Given the description of an element on the screen output the (x, y) to click on. 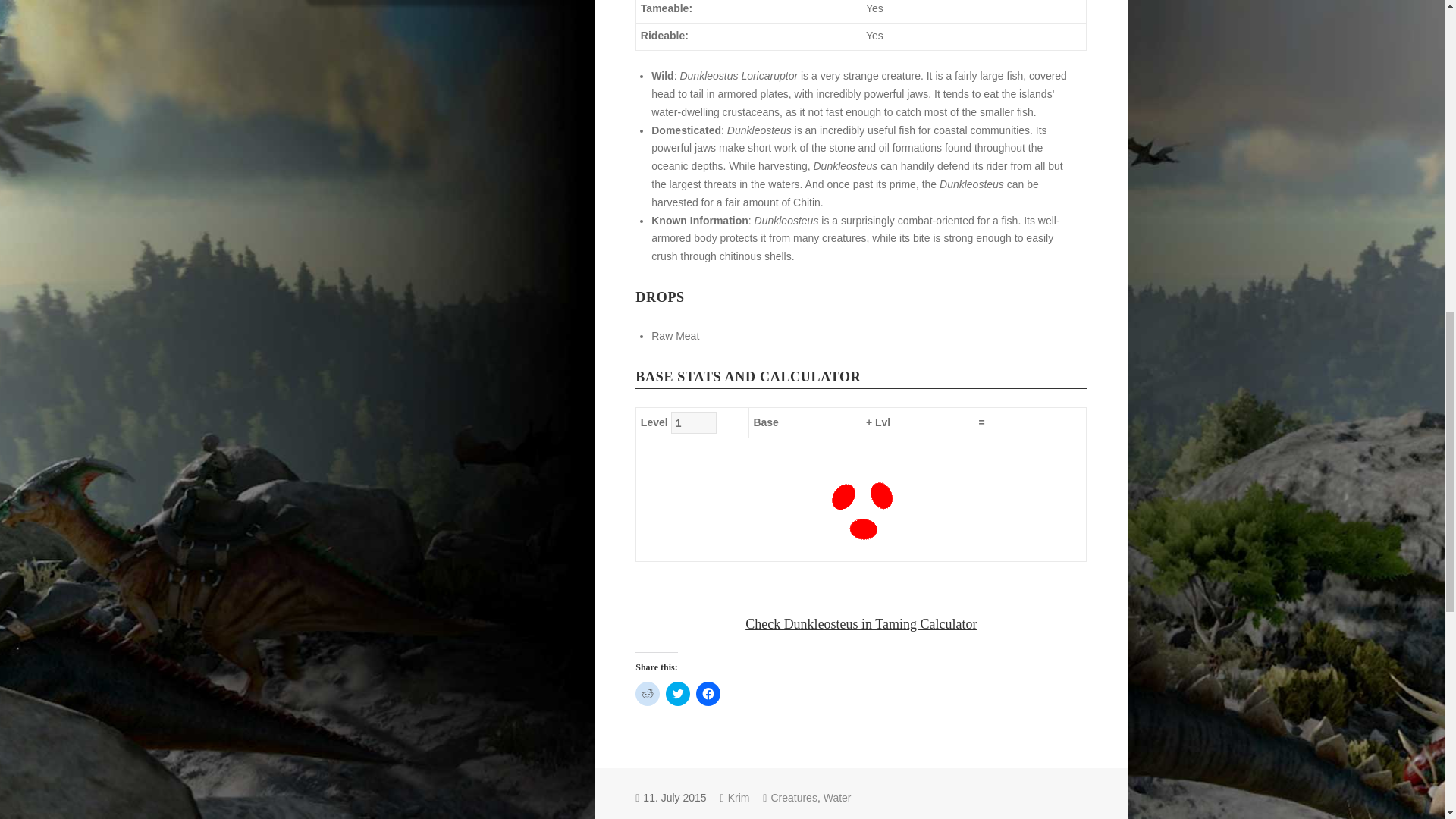
Click to share on Facebook (707, 693)
View all posts in Creatures (793, 797)
1 (693, 422)
View all posts in Water (837, 797)
Click to share on Twitter (677, 693)
Click to share on Reddit (646, 693)
Posts by Krim (738, 797)
